Given the description of an element on the screen output the (x, y) to click on. 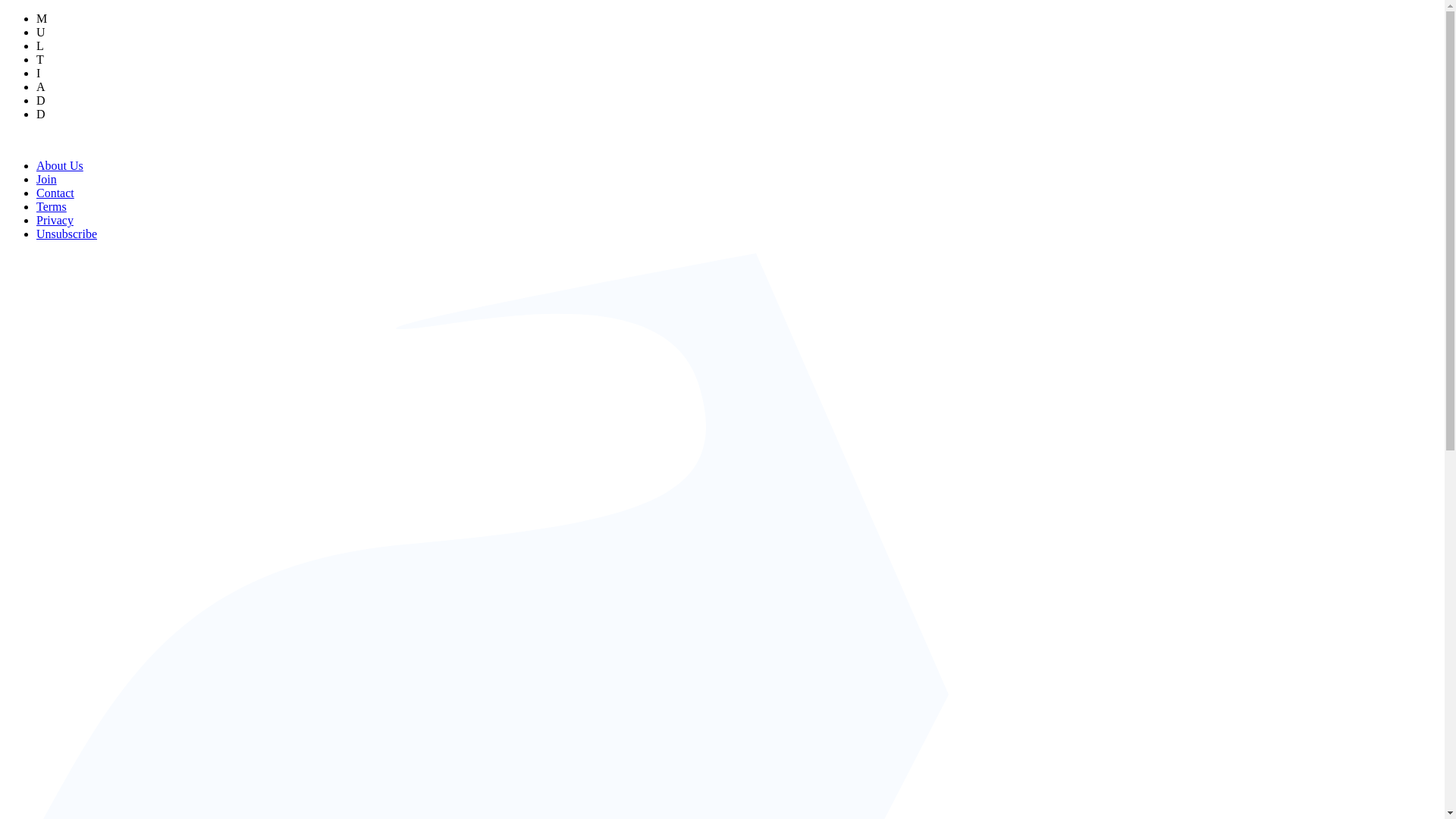
Privacy (55, 219)
About Us (59, 164)
Join (46, 178)
Contact (55, 192)
Terms (51, 205)
Unsubscribe (66, 233)
